Given the description of an element on the screen output the (x, y) to click on. 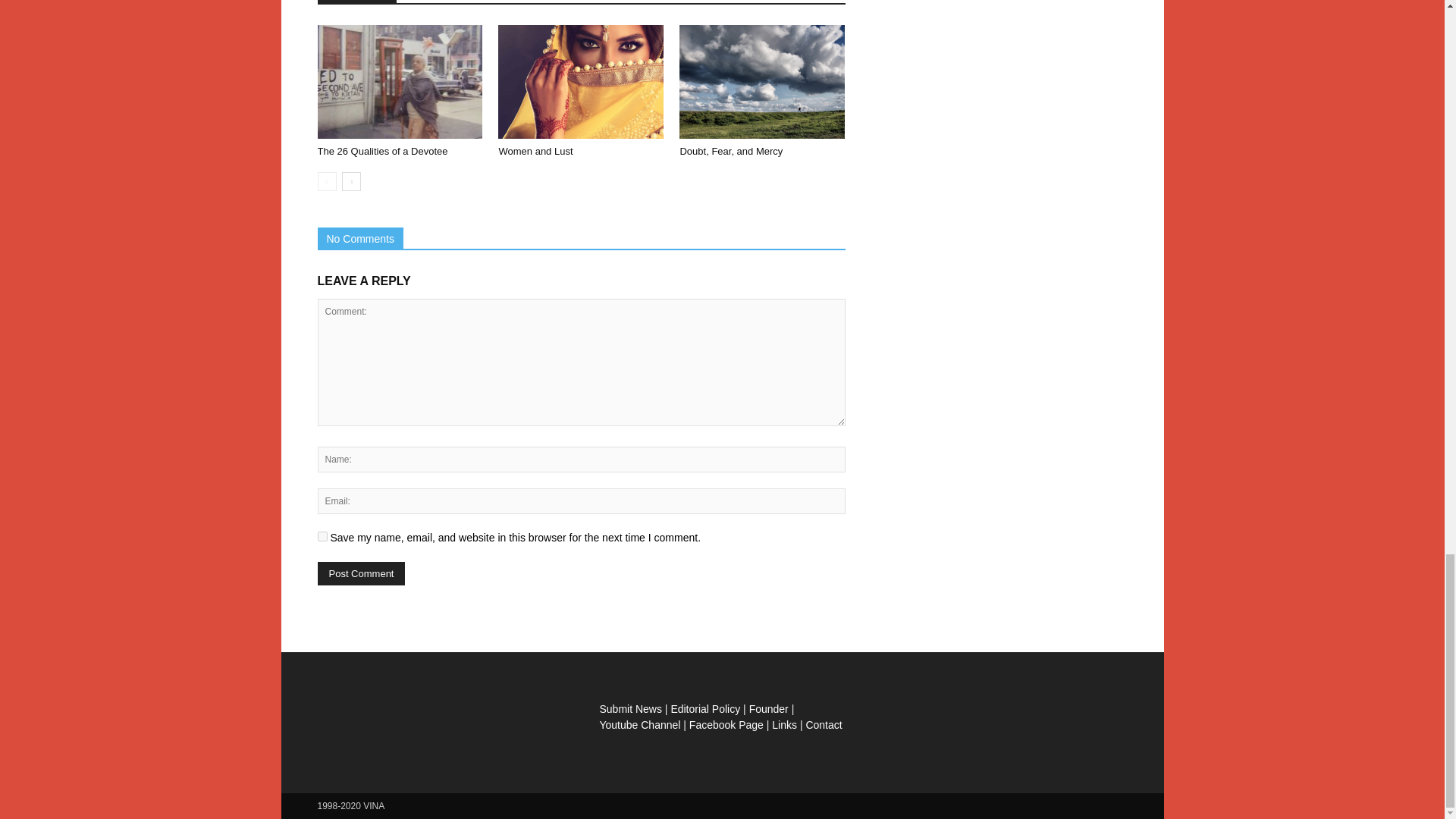
Editorial Policy (704, 708)
Doubt, Fear, and Mercy (761, 81)
The 26 Qualities of a Devotee (399, 81)
yes (321, 536)
Women and Lust (534, 151)
Women and Lust (580, 81)
Guidelines For Submitting News (629, 708)
Doubt, Fear, and Mercy (731, 151)
Founder of VINA (769, 708)
Post Comment (360, 573)
